Given the description of an element on the screen output the (x, y) to click on. 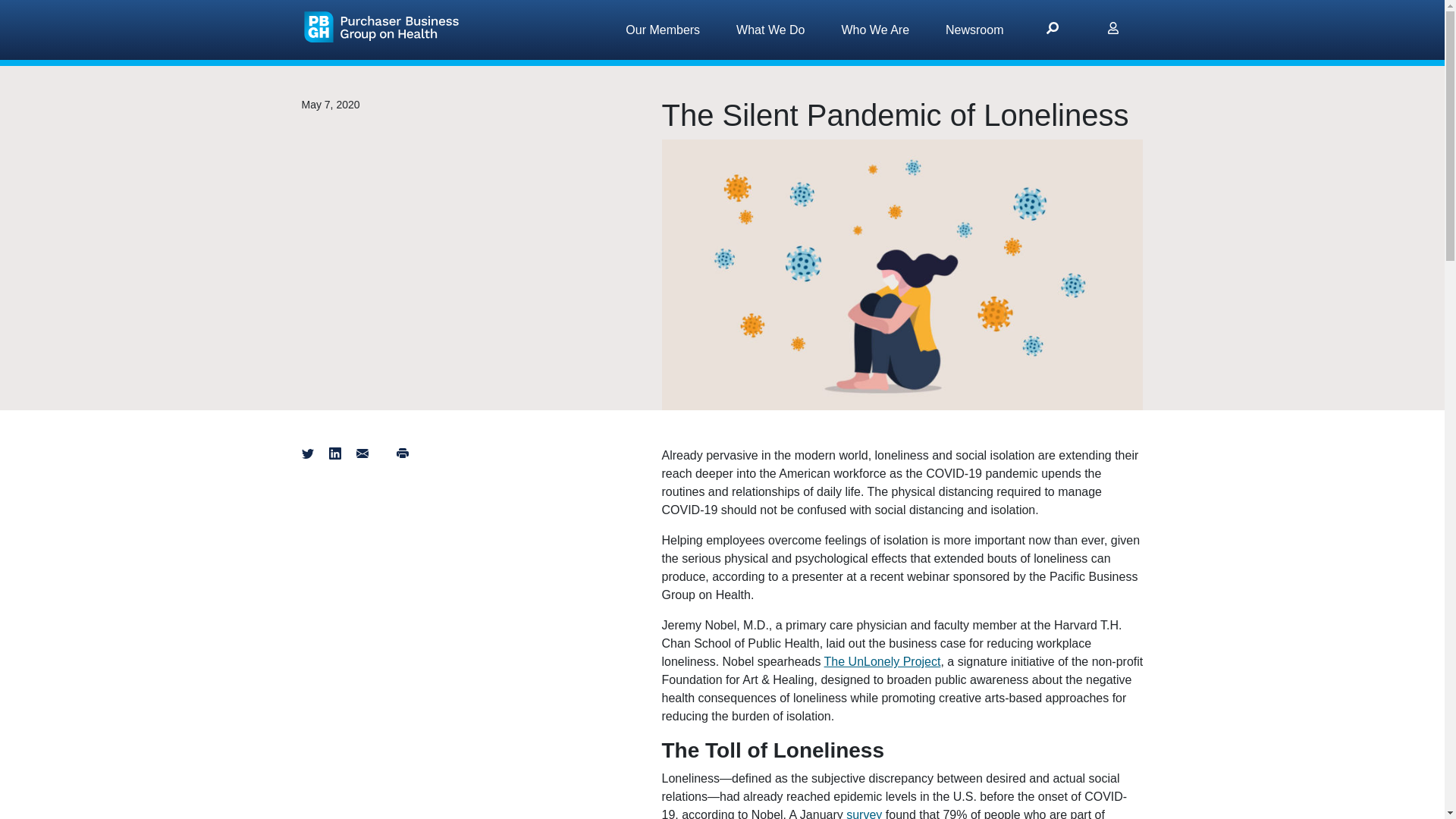
Our Members (662, 30)
Who We Are (876, 30)
What We Do (769, 30)
PBGH (383, 26)
Tweet (307, 454)
Share on LinkedIn (334, 454)
Newsroom (974, 30)
Email (362, 454)
